Given the description of an element on the screen output the (x, y) to click on. 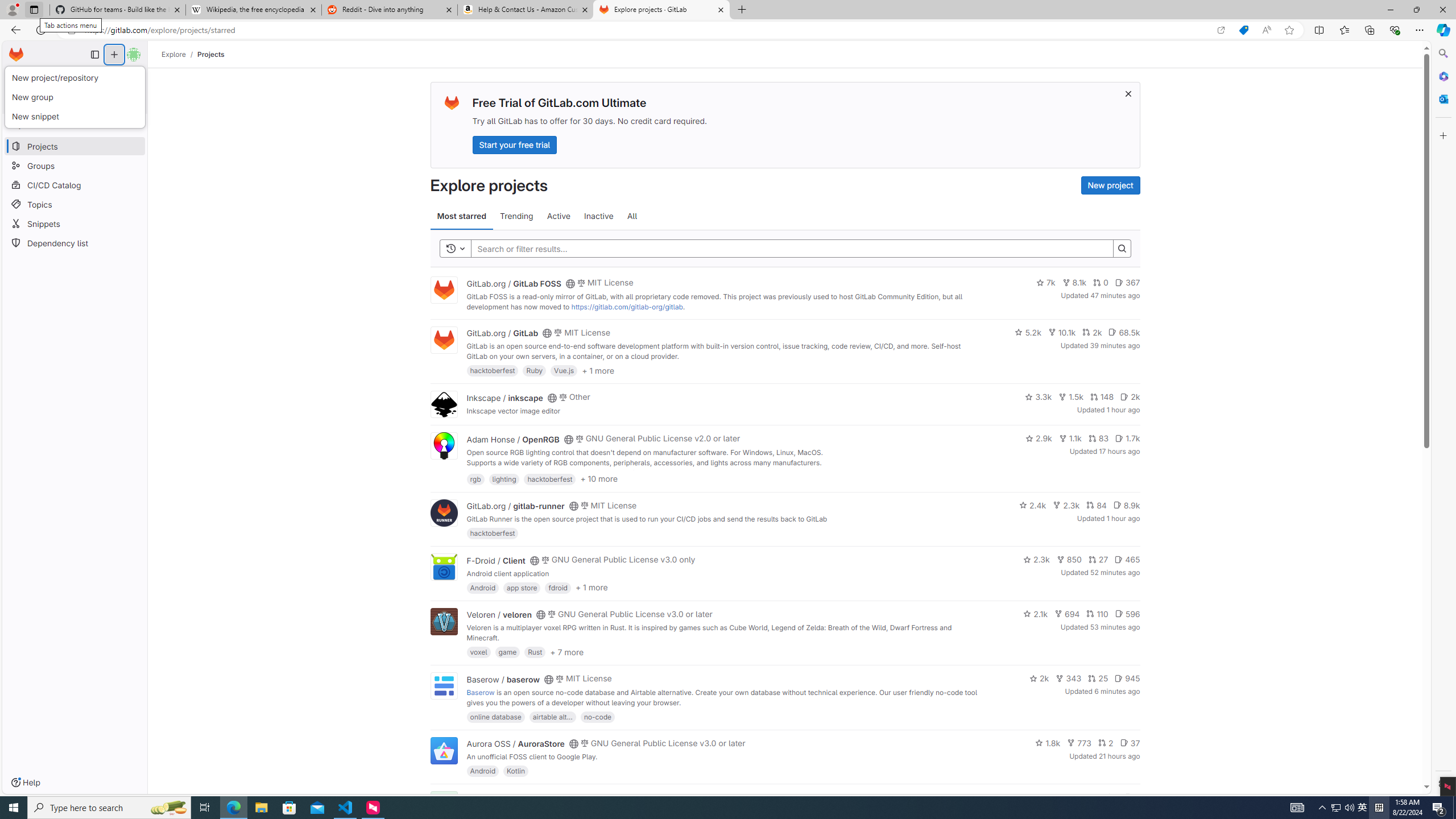
367 (1127, 282)
GitLab.org / GitLab FOSS (513, 283)
2.9k (1038, 438)
Create new... (113, 54)
Topics (74, 203)
694 (1067, 613)
Most starred (461, 216)
148 (1101, 396)
Android (482, 770)
Baserow (480, 691)
Rust (535, 651)
